Given the description of an element on the screen output the (x, y) to click on. 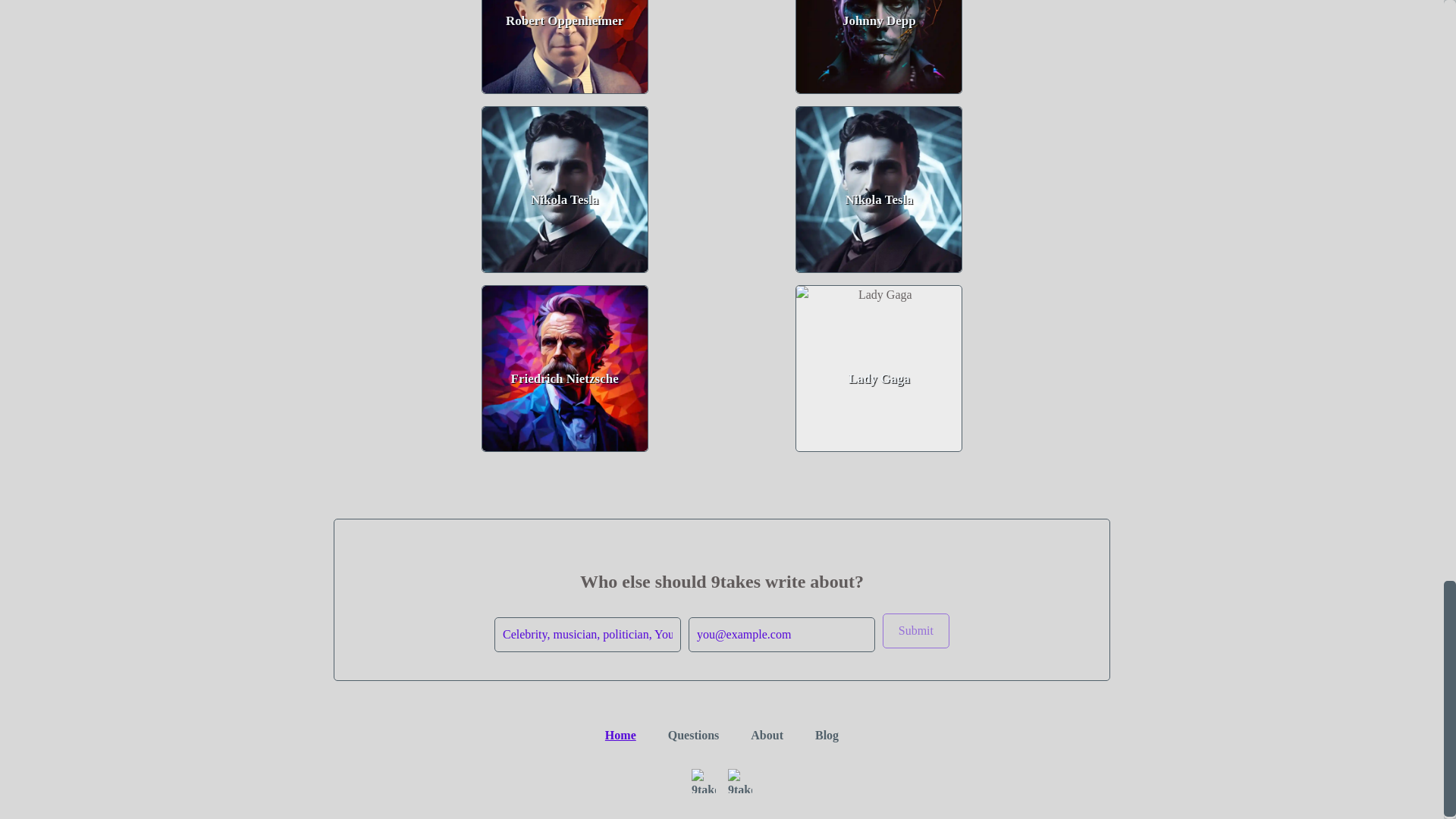
Blog (826, 735)
Robert Oppenheimer (564, 47)
About (767, 735)
Friedrich Nietzsche (564, 368)
9takesdotcom Instagram (703, 781)
Home (620, 735)
Questions (693, 735)
Nikola Tesla (878, 189)
Johnny Depp (878, 47)
Submit (915, 630)
